Given the description of an element on the screen output the (x, y) to click on. 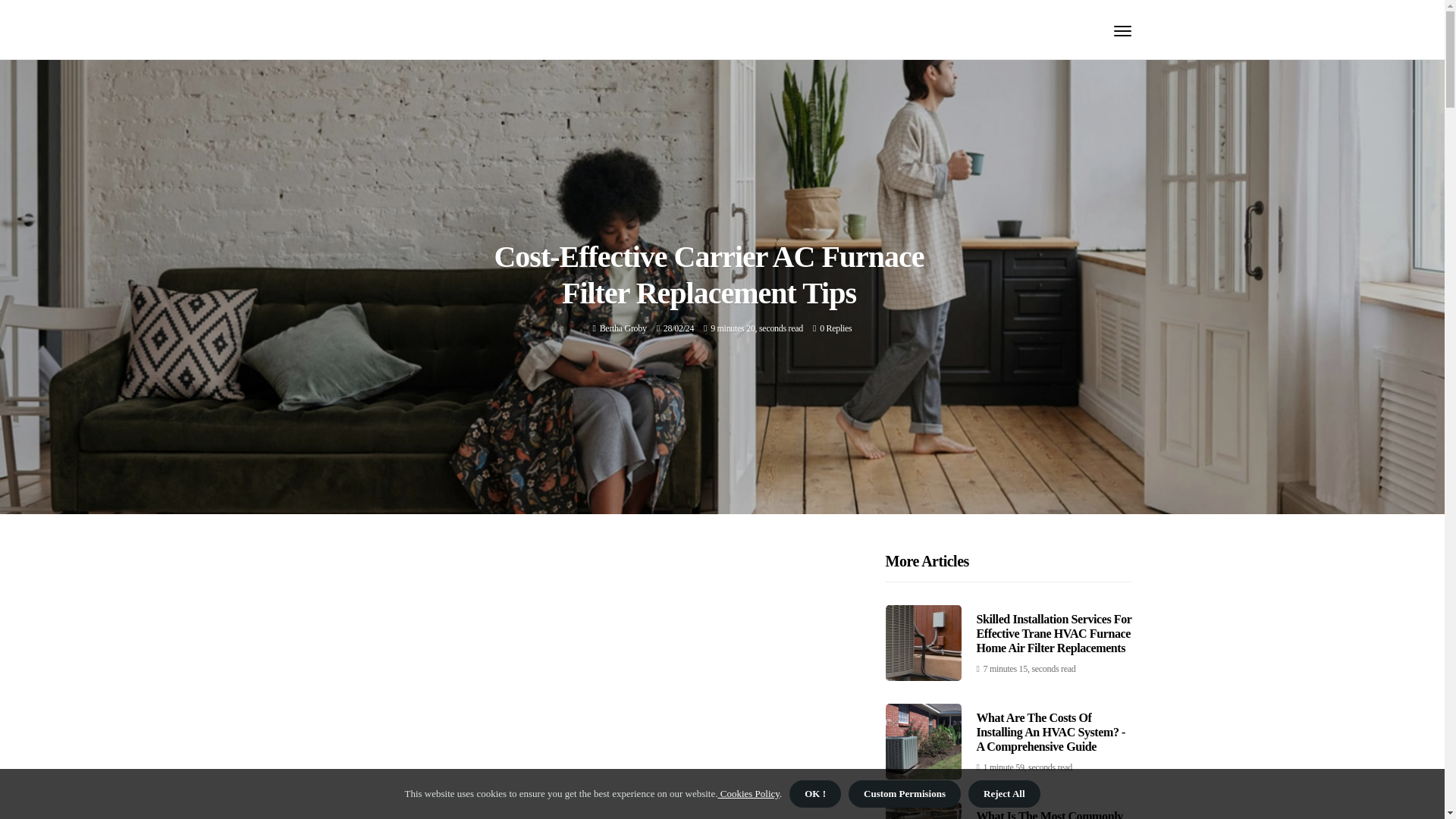
Posts by Bertha Groby (622, 327)
0 Replies (835, 327)
Bertha Groby (622, 327)
YouTube video player (596, 685)
